Given the description of an element on the screen output the (x, y) to click on. 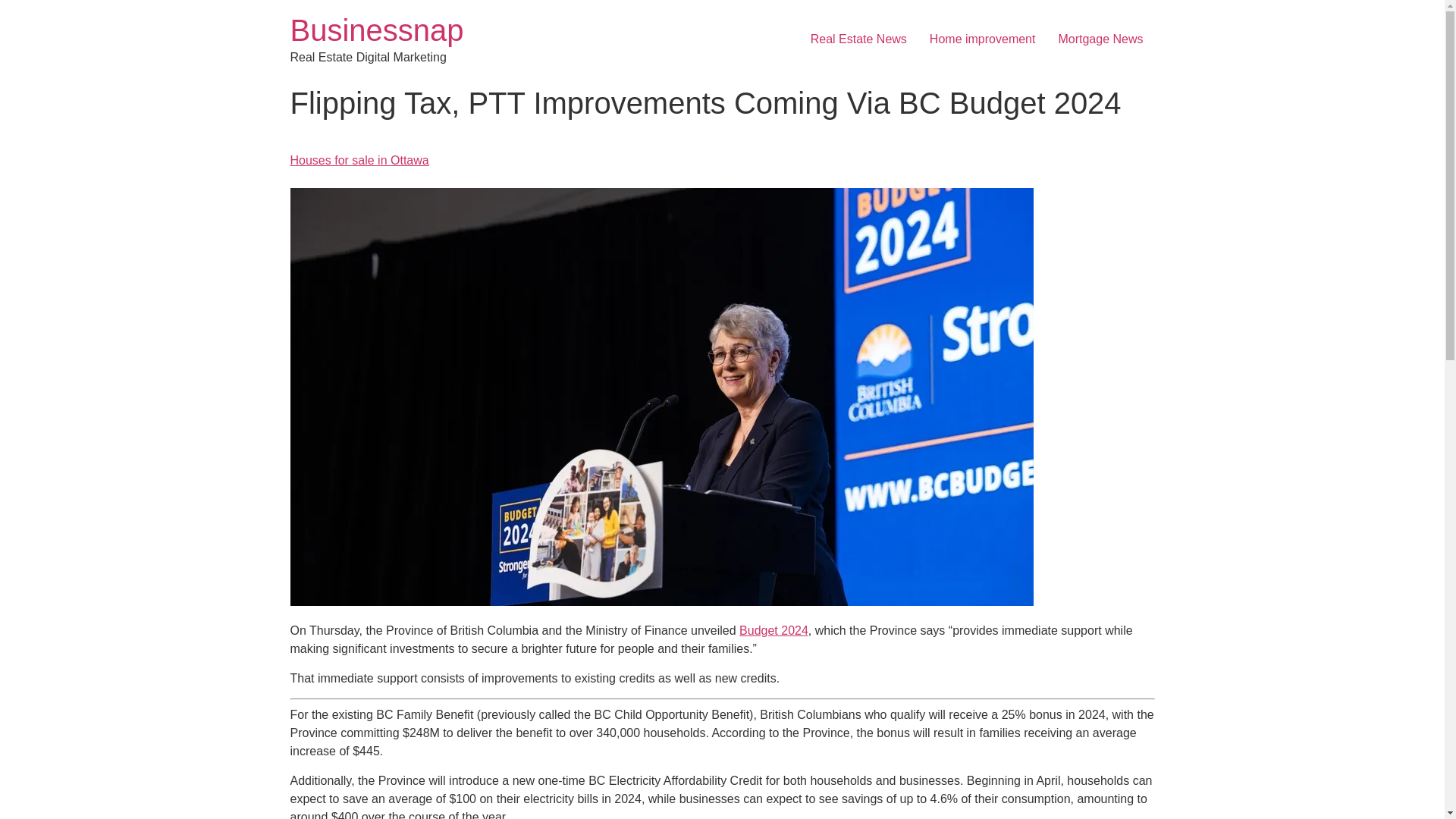
Budget 2024 (773, 630)
Houses for sale in Ottawa (358, 160)
Mortgage News (1100, 39)
Real Estate News (858, 39)
Home (376, 29)
Houses for sale in Ottawa (358, 160)
Home improvement (982, 39)
Businessnap (376, 29)
